Given the description of an element on the screen output the (x, y) to click on. 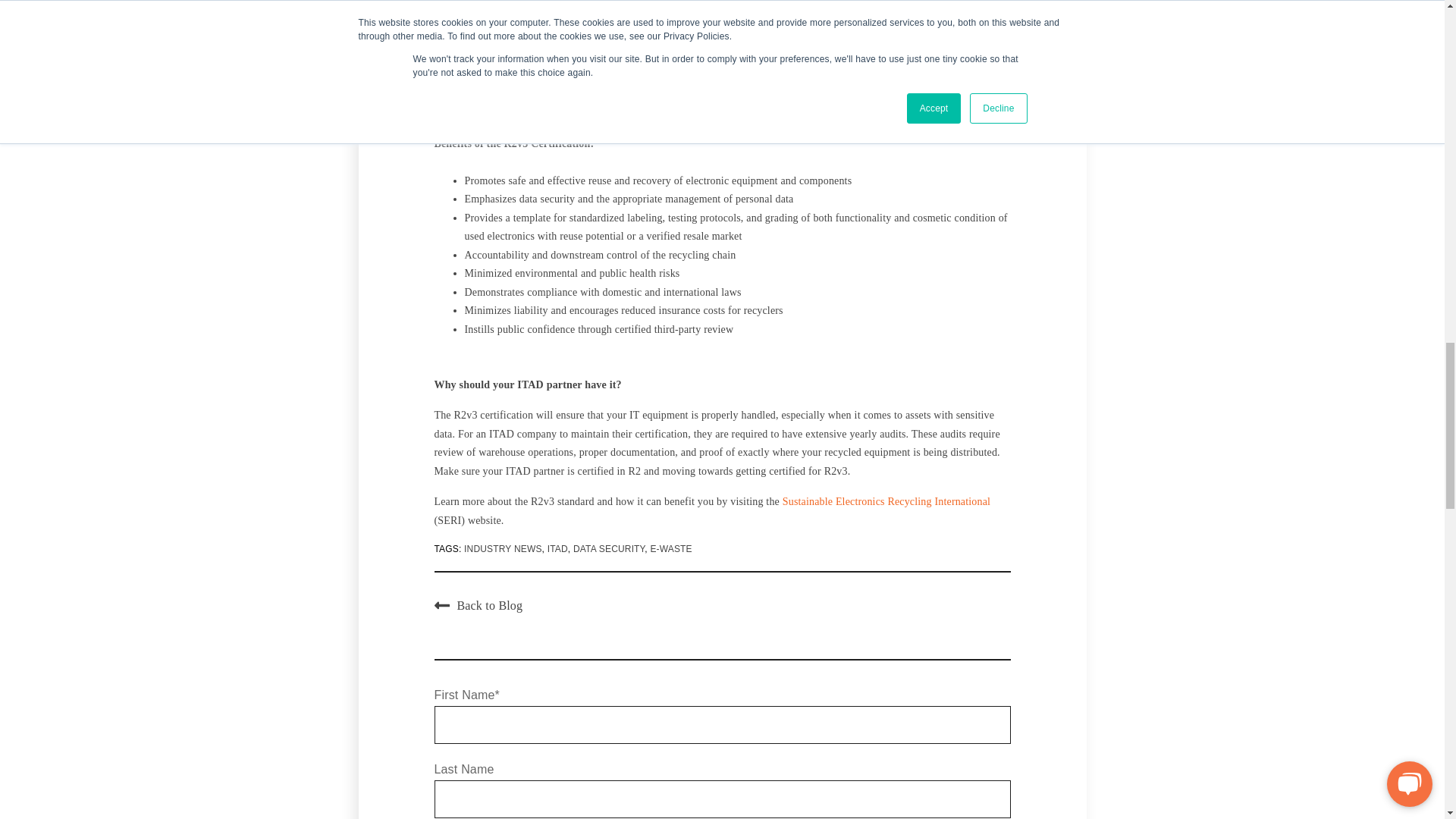
DATA SECURITY (609, 548)
Back to Blog (477, 604)
ITAD (557, 548)
Sustainable Electronics Recycling International (886, 501)
INDUSTRY NEWS (502, 548)
E-WASTE (670, 548)
